Given the description of an element on the screen output the (x, y) to click on. 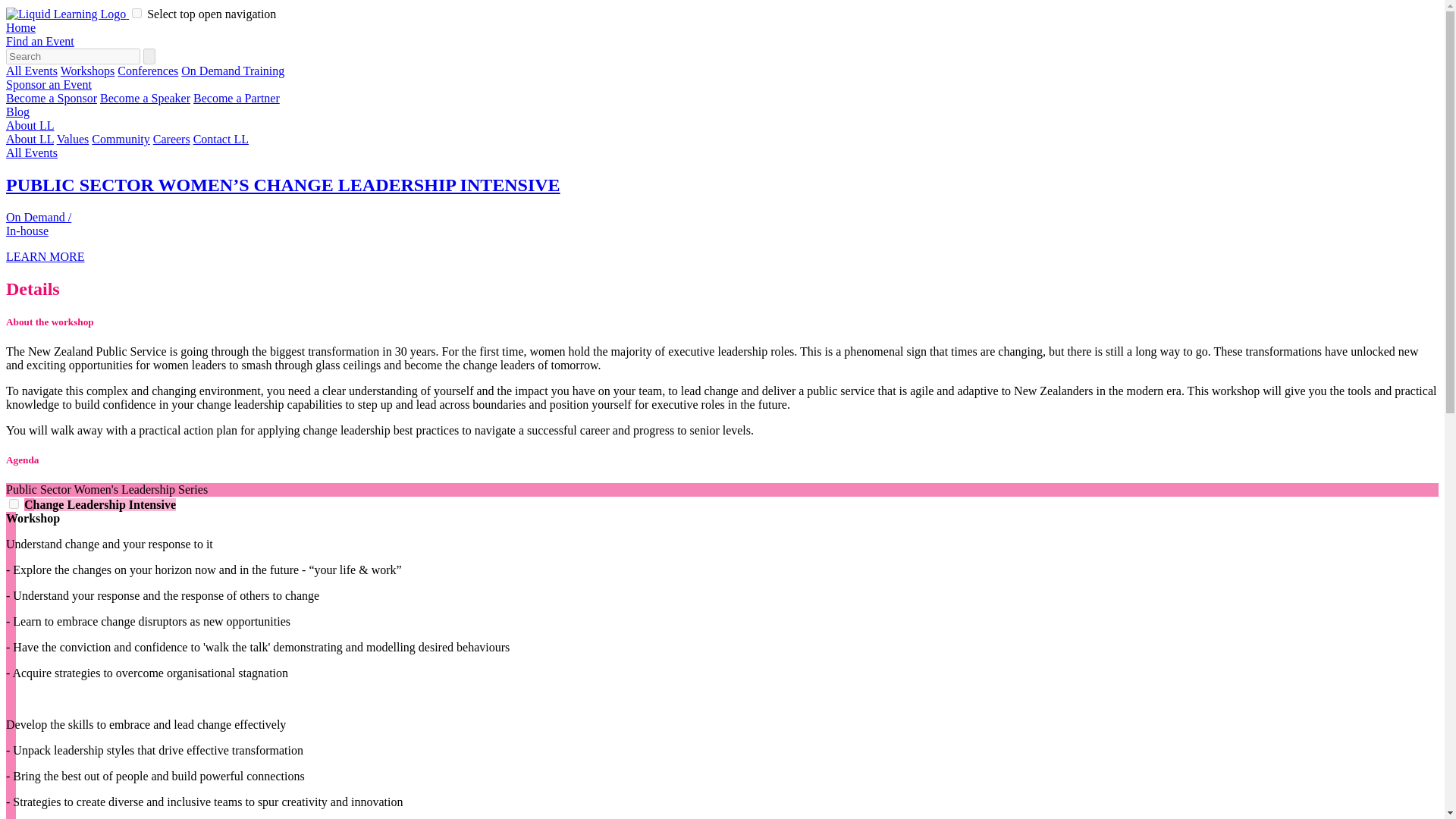
Contact LL (220, 138)
on (136, 13)
Home (19, 27)
Conferences (147, 70)
Sponsor an Event (48, 83)
Find an Event (39, 41)
Careers (171, 138)
Become a Speaker (145, 97)
Values (72, 138)
All Events (31, 152)
